Given the description of an element on the screen output the (x, y) to click on. 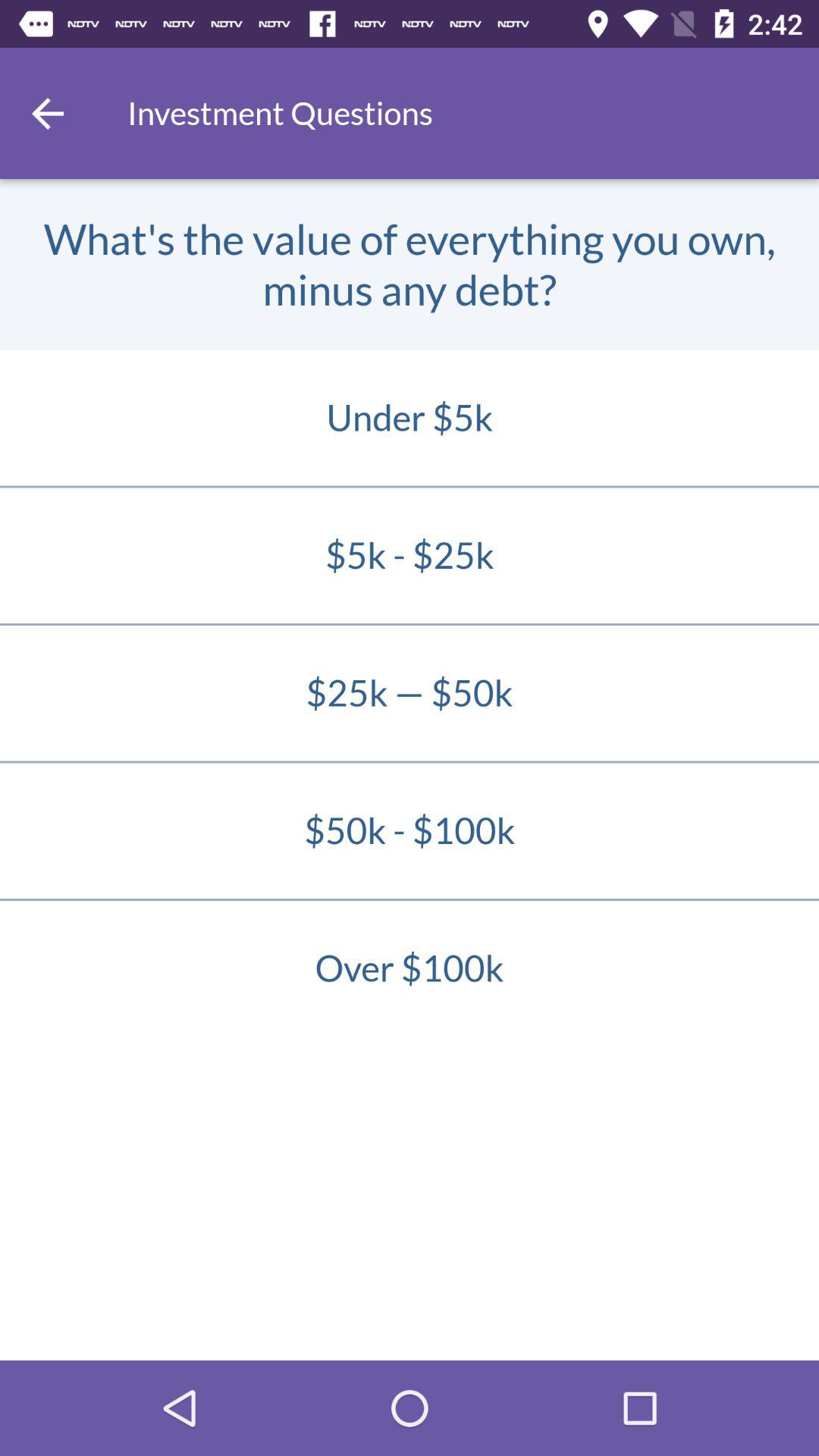
click item to the left of the investment questions icon (47, 113)
